Given the description of an element on the screen output the (x, y) to click on. 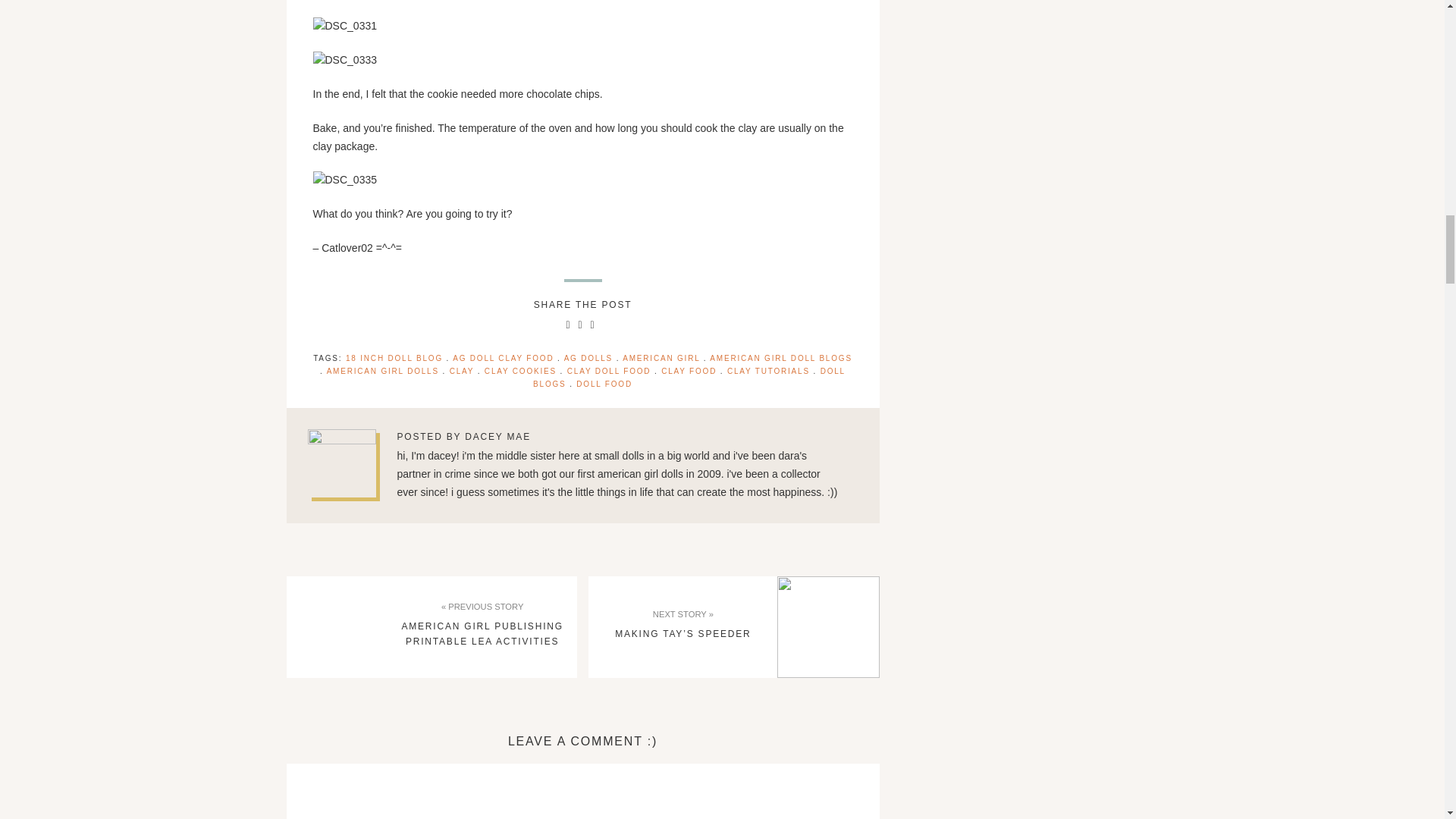
Comment Form (583, 801)
DOLL FOOD (603, 384)
DACEY MAE (497, 436)
AMERICAN GIRL PUBLISHING PRINTABLE LEA ACTIVITIES (481, 633)
CLAY (461, 370)
18 INCH DOLL BLOG (394, 357)
AMERICAN GIRL DOLLS (382, 370)
CLAY DOLL FOOD (608, 370)
CLAY COOKIES (520, 370)
AMERICAN GIRL (661, 357)
